Given the description of an element on the screen output the (x, y) to click on. 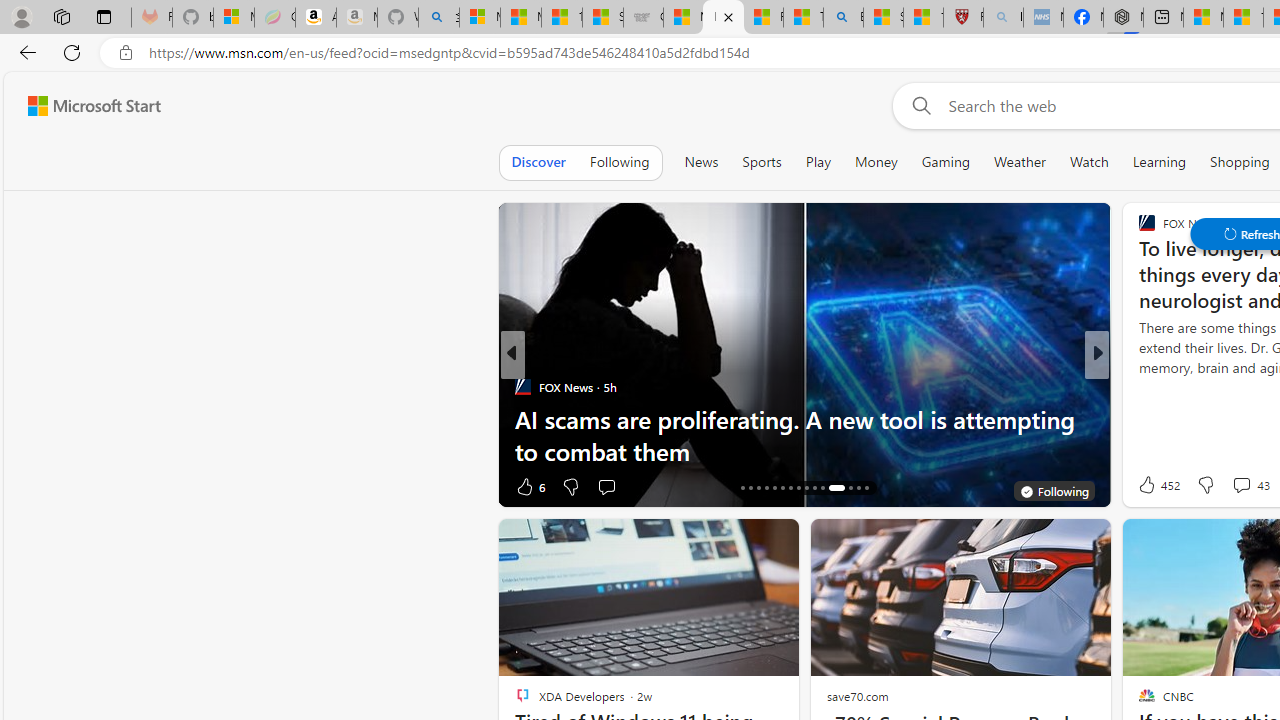
View comments 7 Comment (1234, 485)
AutomationID: tab-21 (782, 487)
6 Like (528, 486)
View comments 67 Comment (11, 485)
